Given the description of an element on the screen output the (x, y) to click on. 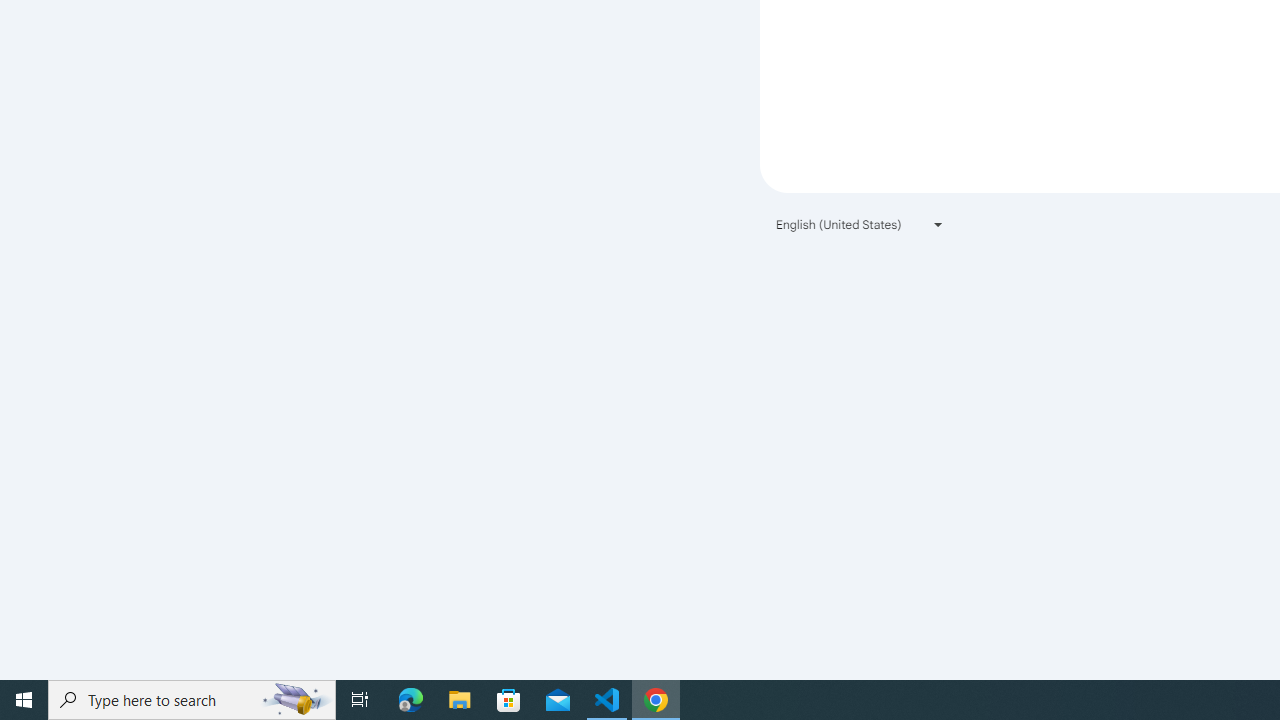
English (United States) (860, 224)
